Given the description of an element on the screen output the (x, y) to click on. 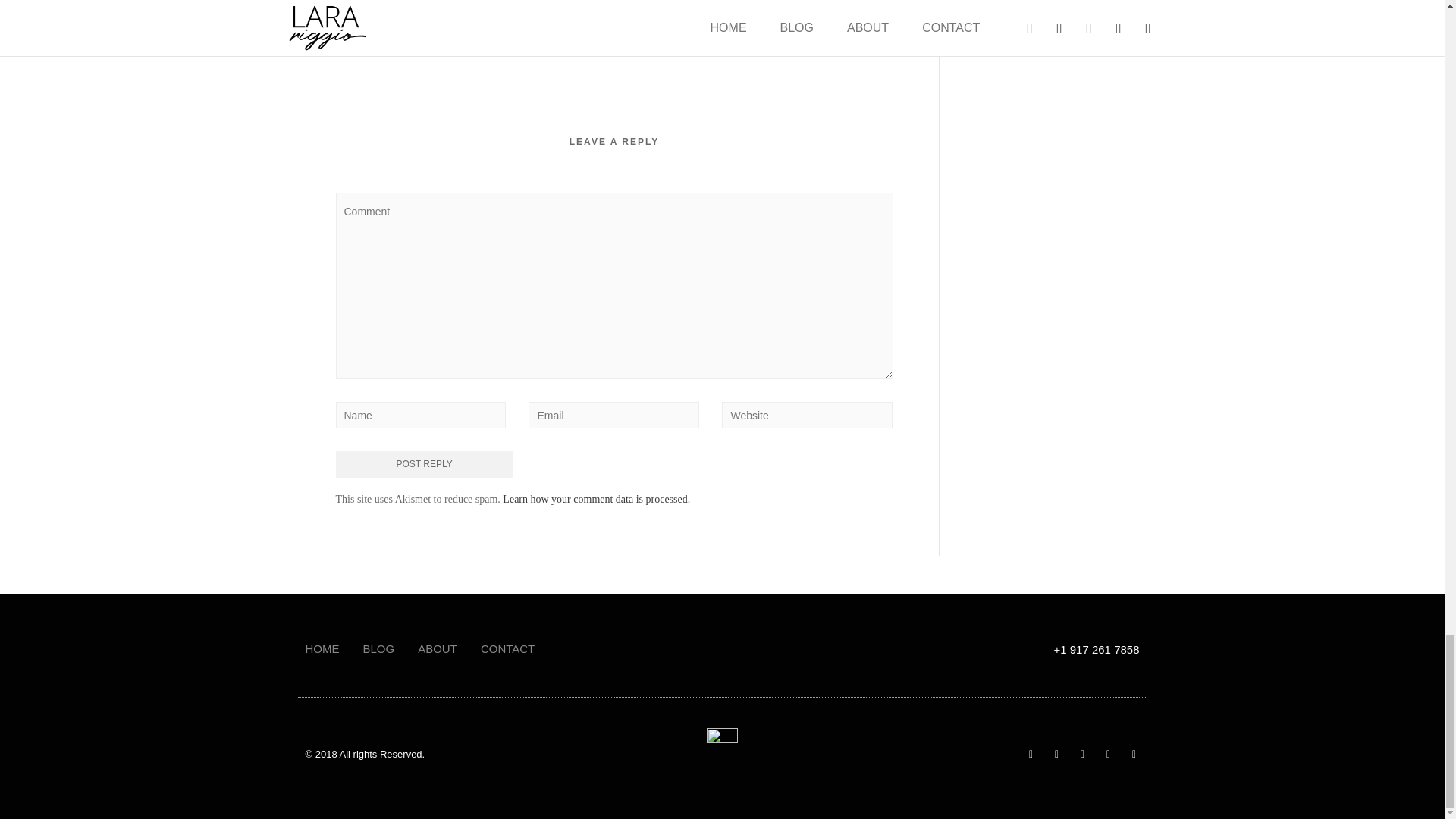
Post Reply (423, 464)
Learn how your comment data is processed (594, 499)
Post Reply (423, 464)
